Given the description of an element on the screen output the (x, y) to click on. 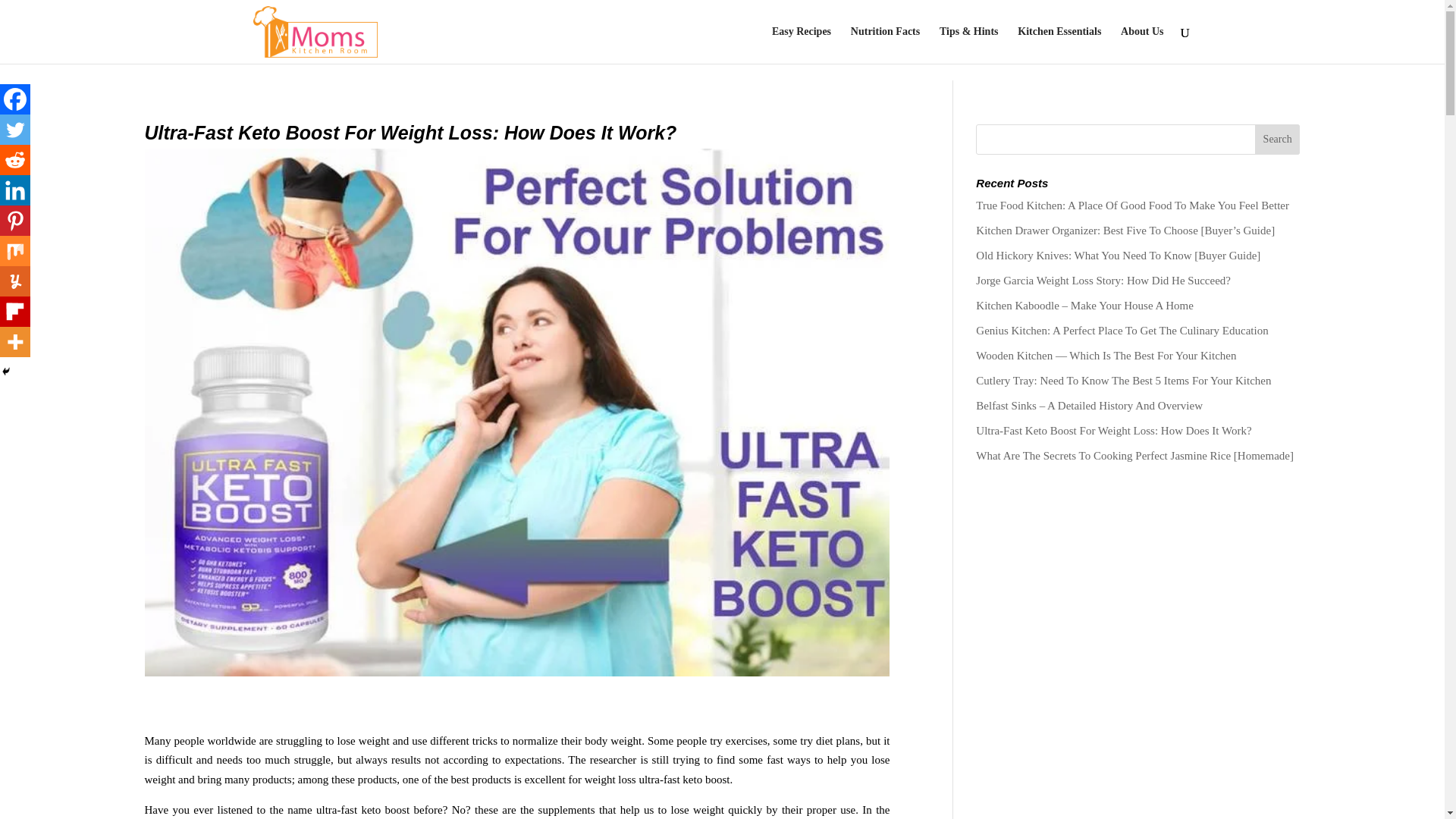
Pinterest (15, 220)
About Us (1142, 44)
Linkedin (15, 190)
Ultra-Fast Keto Boost For Weight Loss: How Does It Work? (1112, 430)
Easy Recipes (801, 44)
Facebook (15, 99)
Twitter (15, 129)
Search (1277, 139)
Cutlery Tray: Need To Know The Best 5 Items For Your Kitchen (1123, 380)
Flipboard (15, 311)
